Given the description of an element on the screen output the (x, y) to click on. 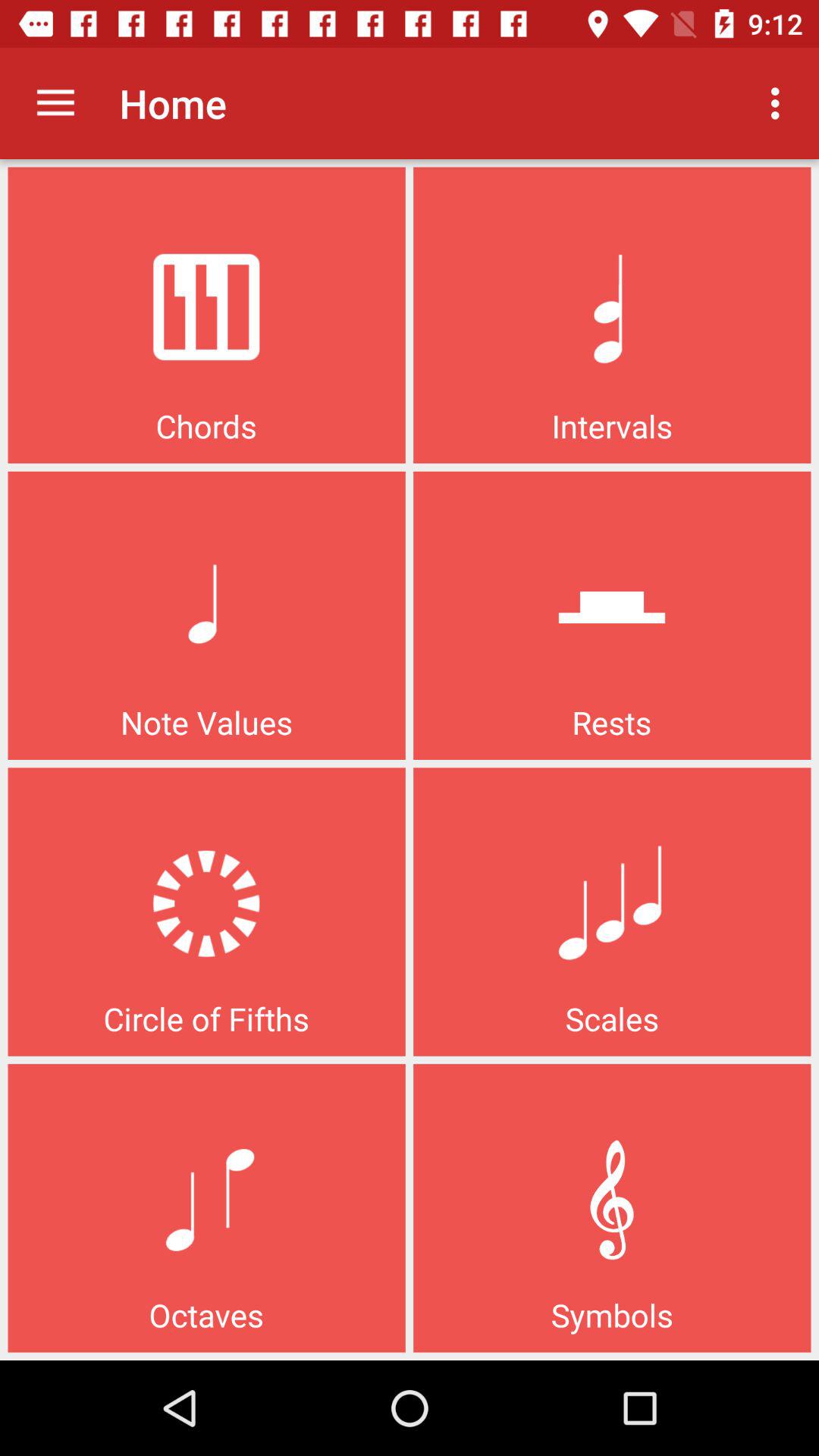
choose icon next to home icon (55, 103)
